Given the description of an element on the screen output the (x, y) to click on. 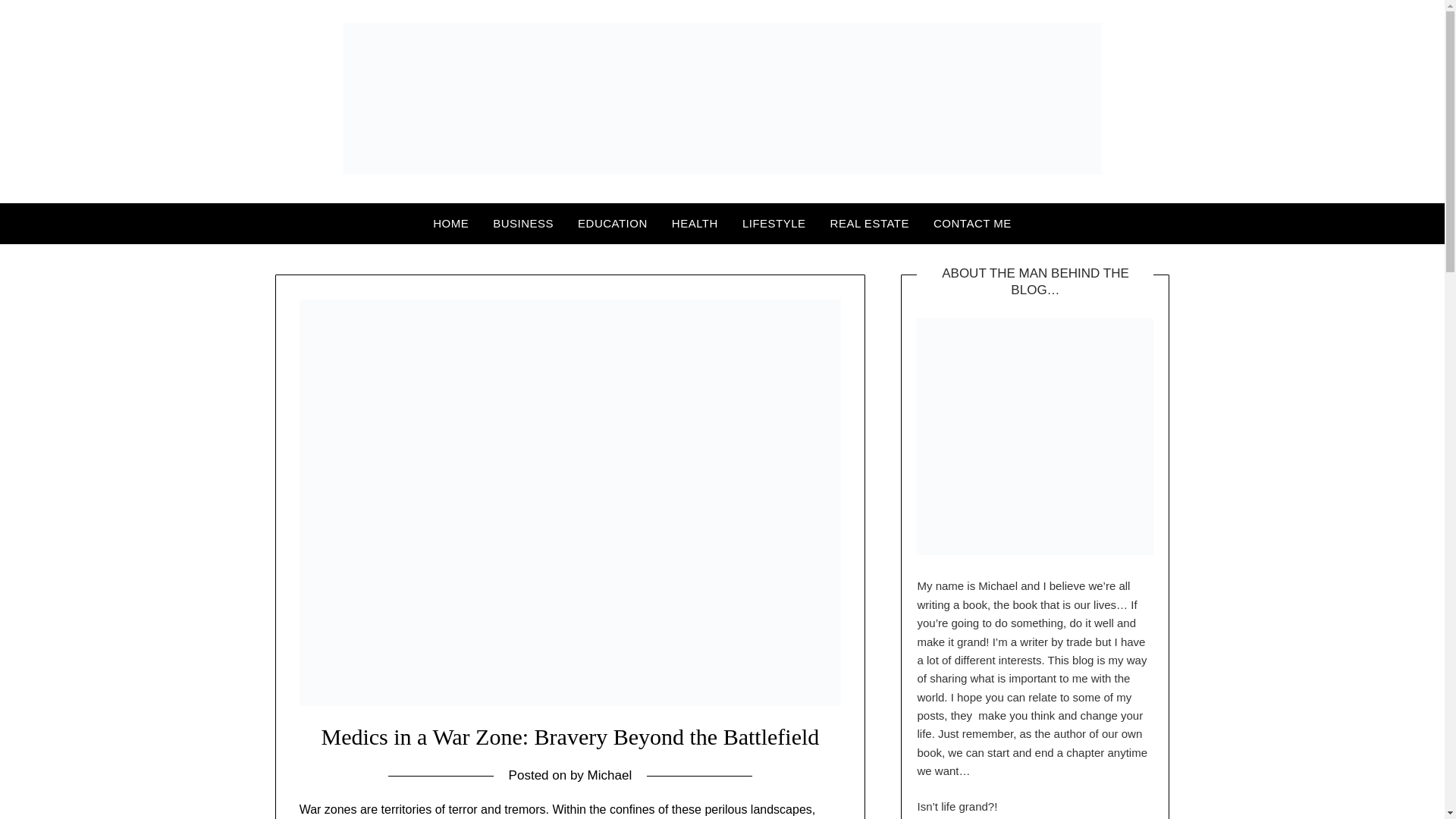
HEALTH (694, 223)
EDUCATION (612, 223)
BUSINESS (523, 223)
Search (38, 22)
REAL ESTATE (869, 223)
CONTACT ME (972, 223)
Michael (609, 775)
HOME (450, 223)
LIFESTYLE (774, 223)
